Given the description of an element on the screen output the (x, y) to click on. 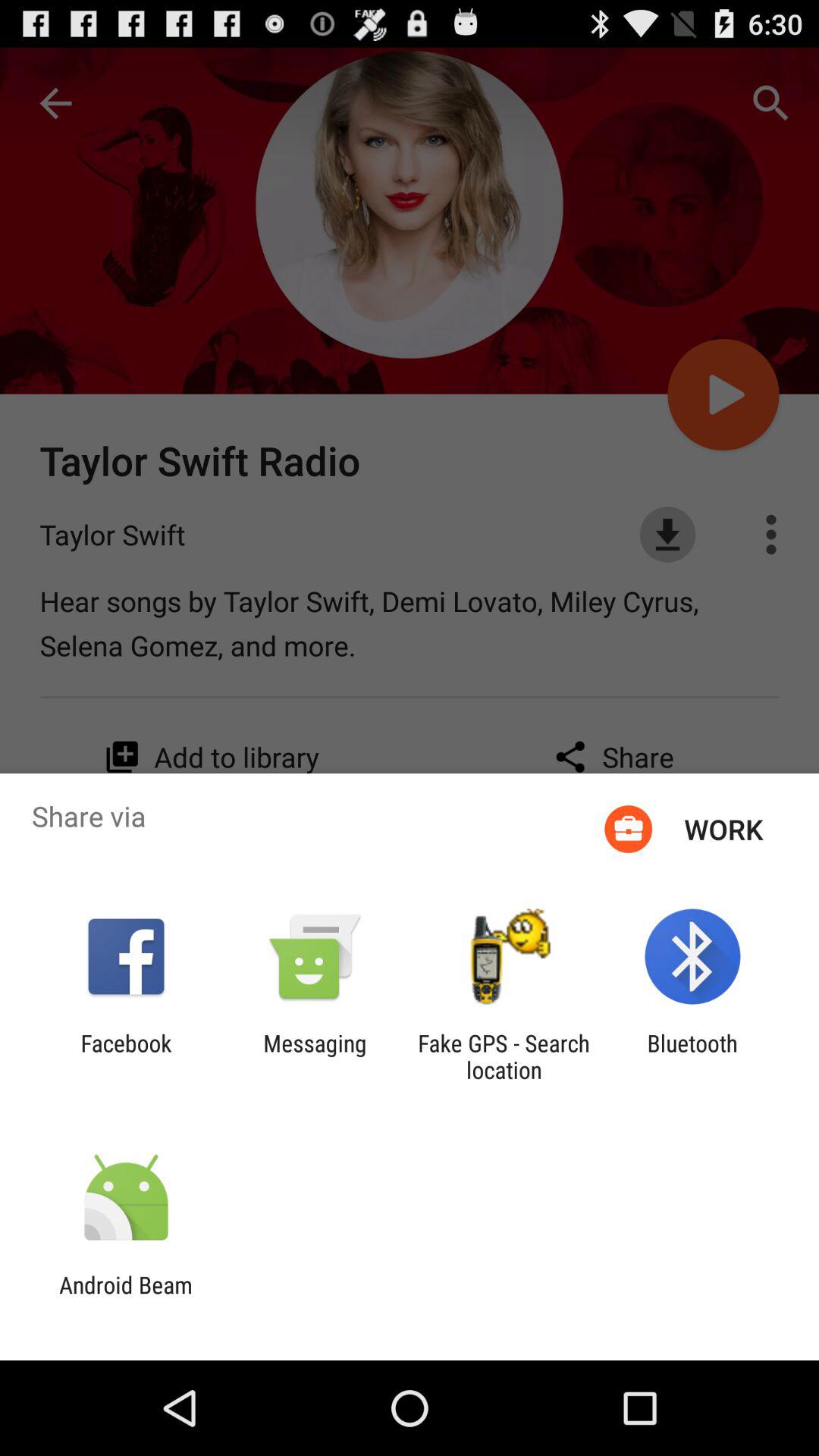
choose fake gps search (503, 1056)
